Given the description of an element on the screen output the (x, y) to click on. 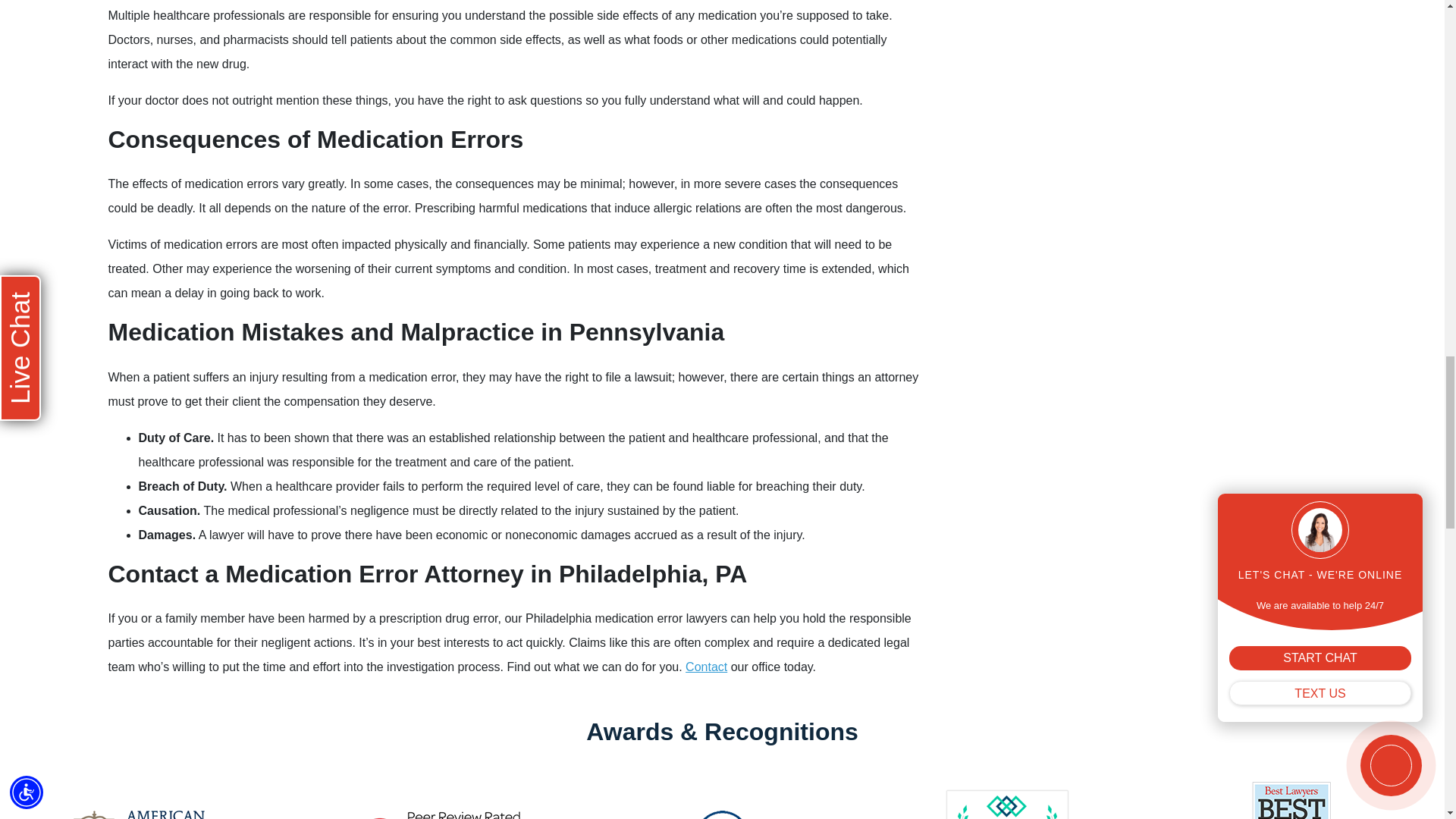
Contact (705, 666)
